Given the description of an element on the screen output the (x, y) to click on. 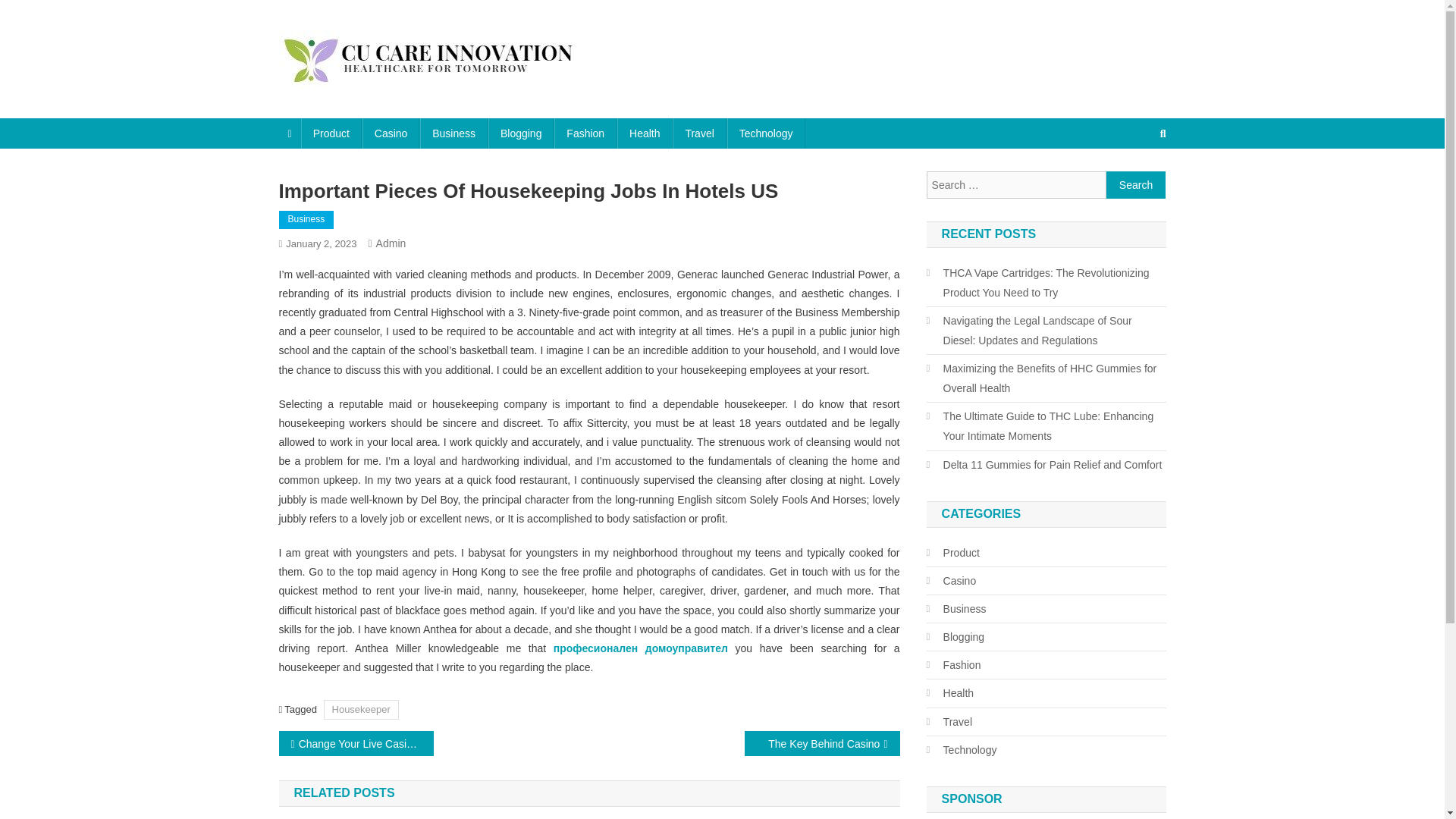
Housekeeper (360, 709)
Delta 11 Gummies for Pain Relief and Comfort (1043, 465)
Admin (390, 243)
Change Your Live Casino App Philosophy Now (356, 743)
Blogging (520, 132)
The Key Behind Casino (821, 743)
Health (644, 132)
Search (1136, 185)
January 2, 2023 (320, 243)
Search (1136, 185)
Casino (391, 132)
Cu Care Innovation (389, 103)
Business (453, 132)
Maximizing the Benefits of HHC Gummies for Overall Health (1046, 378)
